Given the description of an element on the screen output the (x, y) to click on. 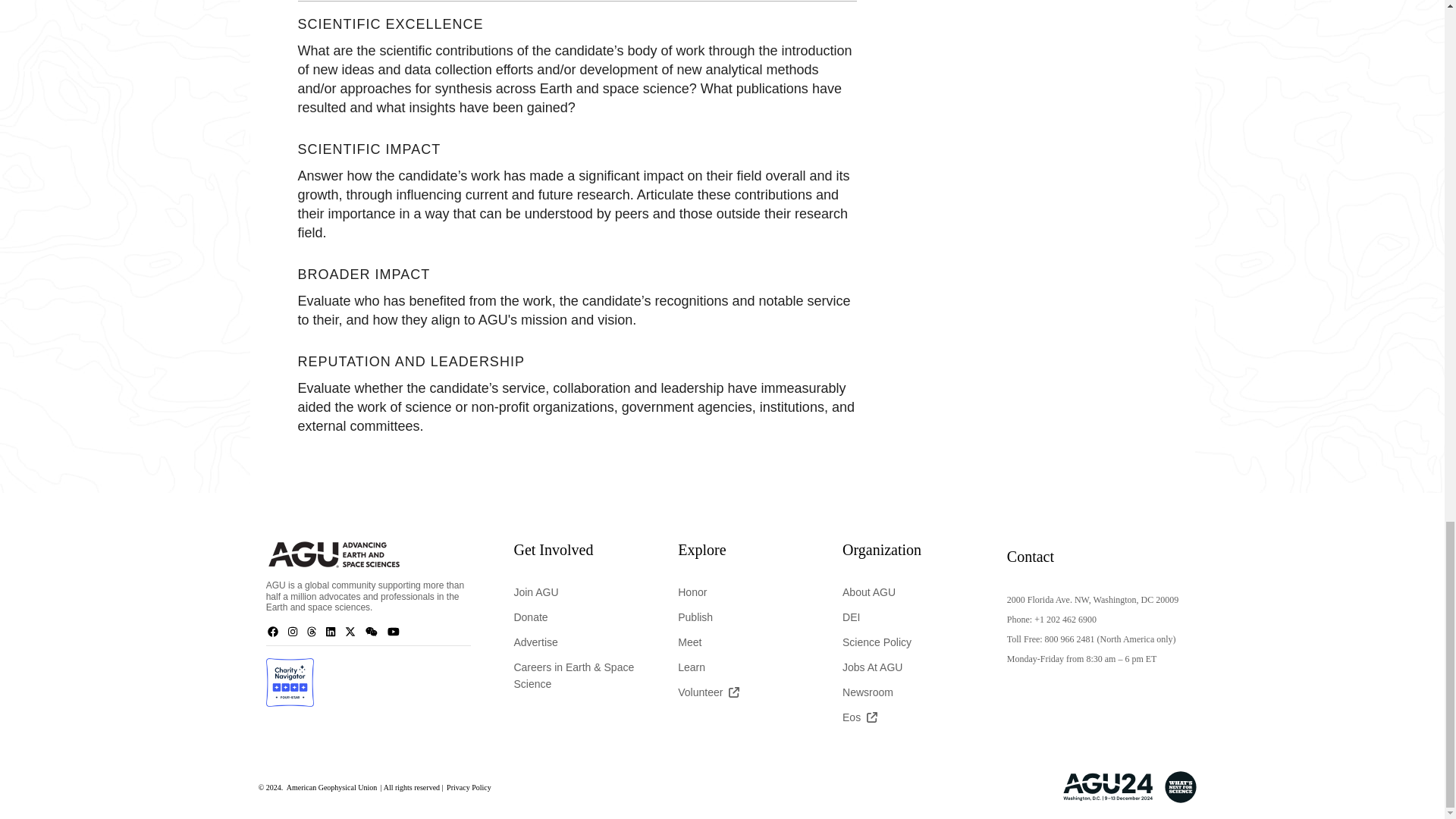
DEI (907, 615)
Honor (742, 590)
Meet (742, 640)
Jobs At AGU (907, 665)
Newsroom (907, 690)
Eos (907, 715)
Learn (742, 665)
Donate (577, 615)
Publish (742, 615)
Science Policy (907, 640)
